Given the description of an element on the screen output the (x, y) to click on. 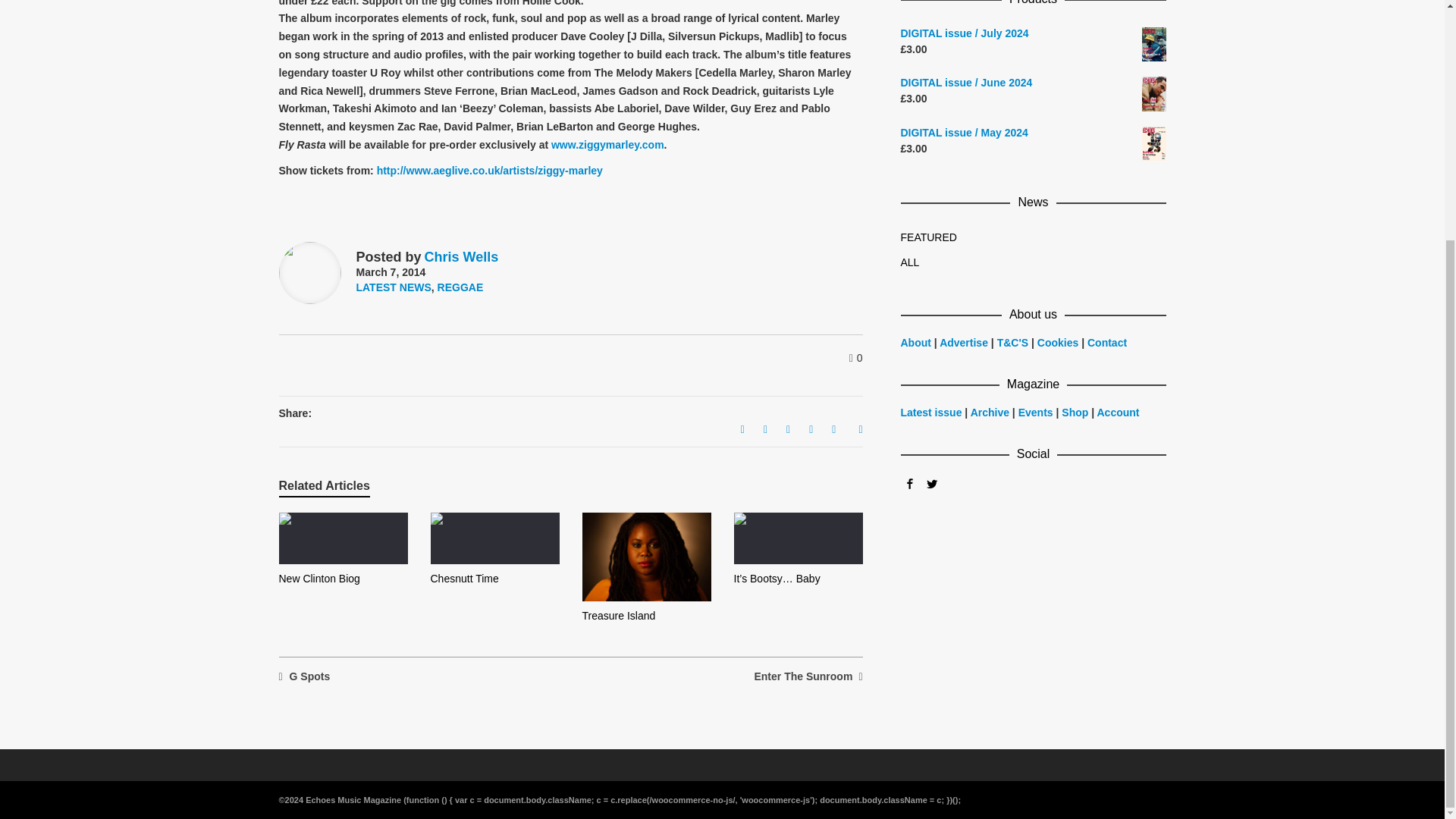
Contact (1106, 342)
Events (1034, 412)
Advertise (965, 342)
Permanent Link to Chesnutt Time (464, 578)
Archive (990, 412)
Permanent Link to Treasure Island (619, 615)
Permanent Link to New Clinton Biog (319, 578)
Shop (1074, 412)
Latest issue of the magazine (931, 412)
